Given the description of an element on the screen output the (x, y) to click on. 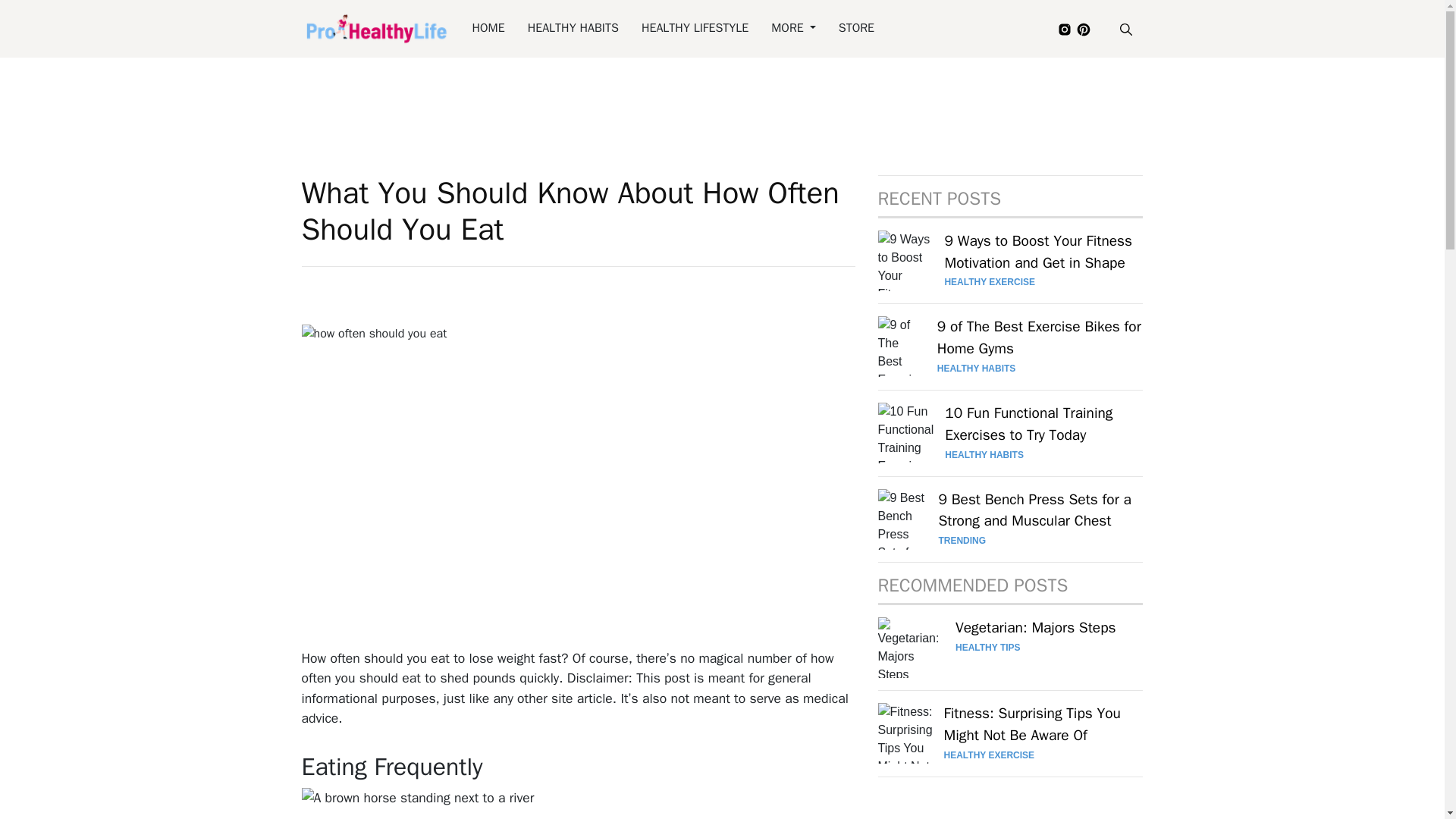
Fitness: Surprising Tips You Might Not Be Aware Of (1032, 724)
HOME (487, 28)
HEALTHY EXERCISE (989, 281)
HEALTHY LIFESTYLE (695, 28)
HEALTHY EXERCISE (989, 755)
10 Fun Functional Training Exercises to Try Today (1028, 424)
HEALTHY TIPS (987, 647)
TRENDING (961, 540)
HEALTHY HABITS (976, 368)
9 of The Best Exercise Bikes for Home Gyms (1039, 338)
9 Best Bench Press Sets for a Strong and Muscular Chest (1034, 510)
9 Ways to Boost Your Fitness Motivation and Get in Shape (1037, 252)
HEALTHY HABITS (983, 454)
HEALTHY HABITS (572, 28)
MORE (793, 28)
